Given the description of an element on the screen output the (x, y) to click on. 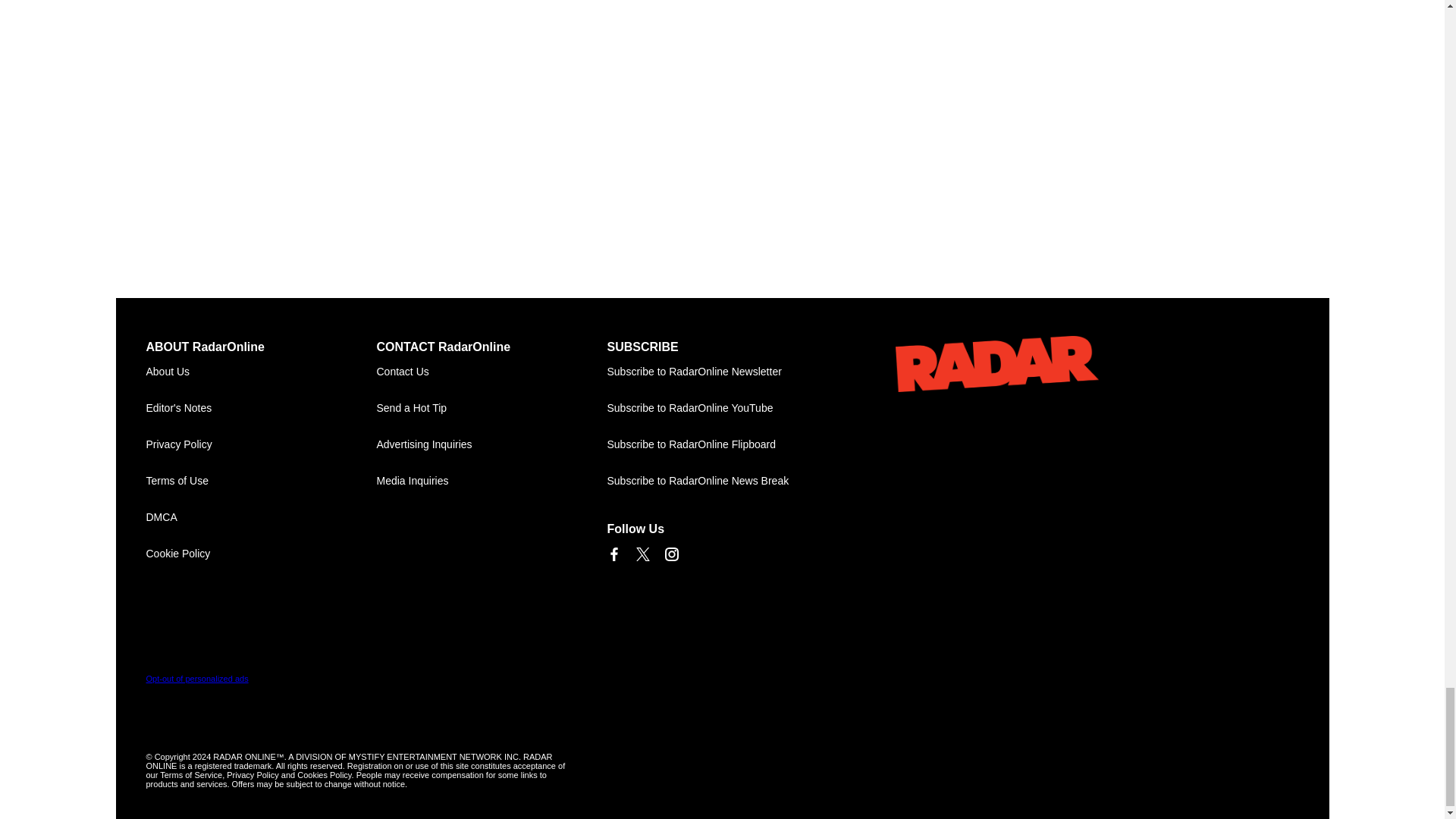
Privacy Policy (260, 444)
Contact Us (491, 371)
Media Inquiries (491, 481)
Cookie Policy (260, 554)
Link to Instagram (670, 554)
Subscribe (722, 371)
Advertising Inquiries (491, 444)
Editor's Notes (260, 408)
Link to Facebook (613, 554)
Link to X (641, 554)
